Given the description of an element on the screen output the (x, y) to click on. 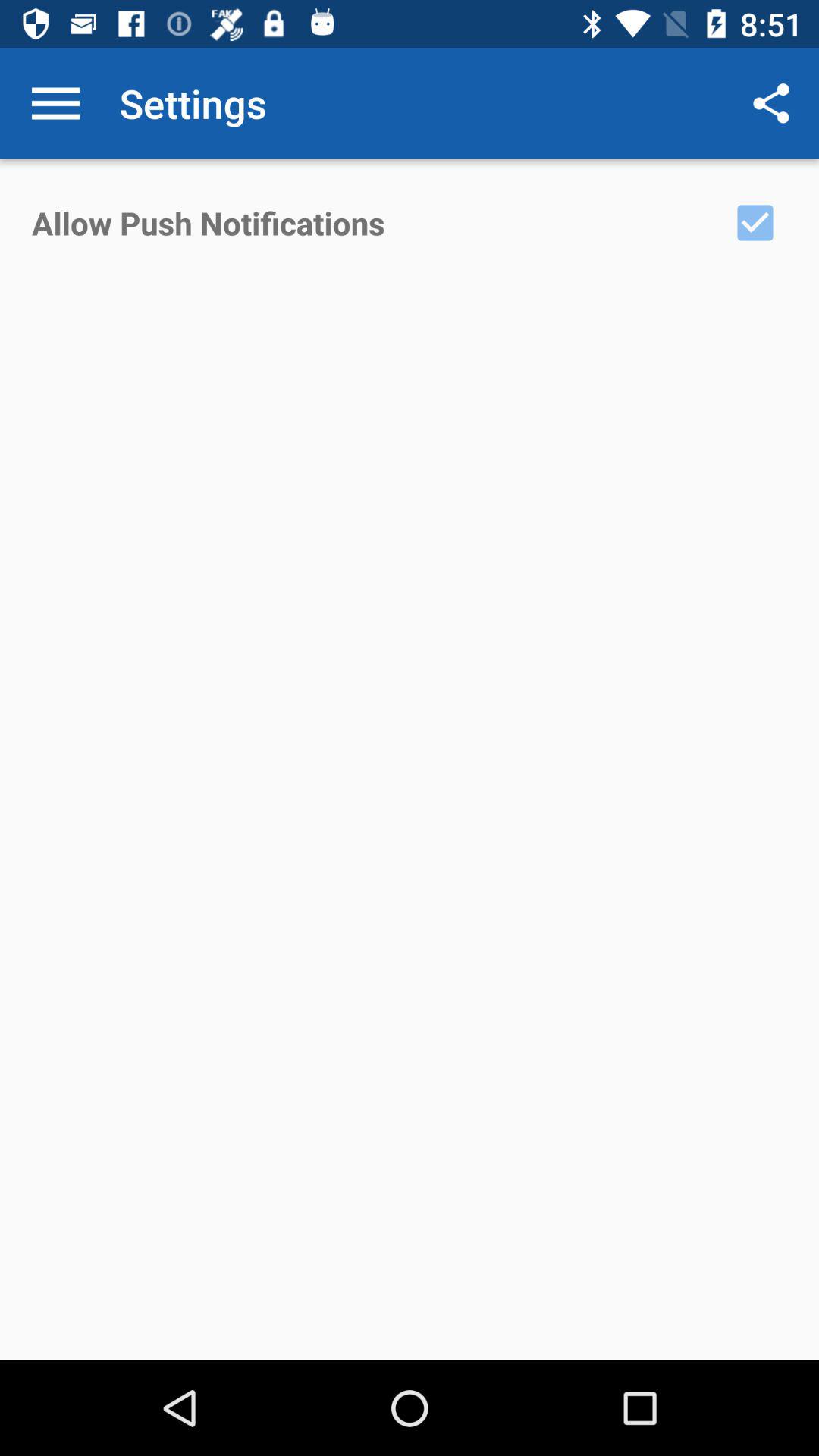
toggles notifications (755, 222)
